Given the description of an element on the screen output the (x, y) to click on. 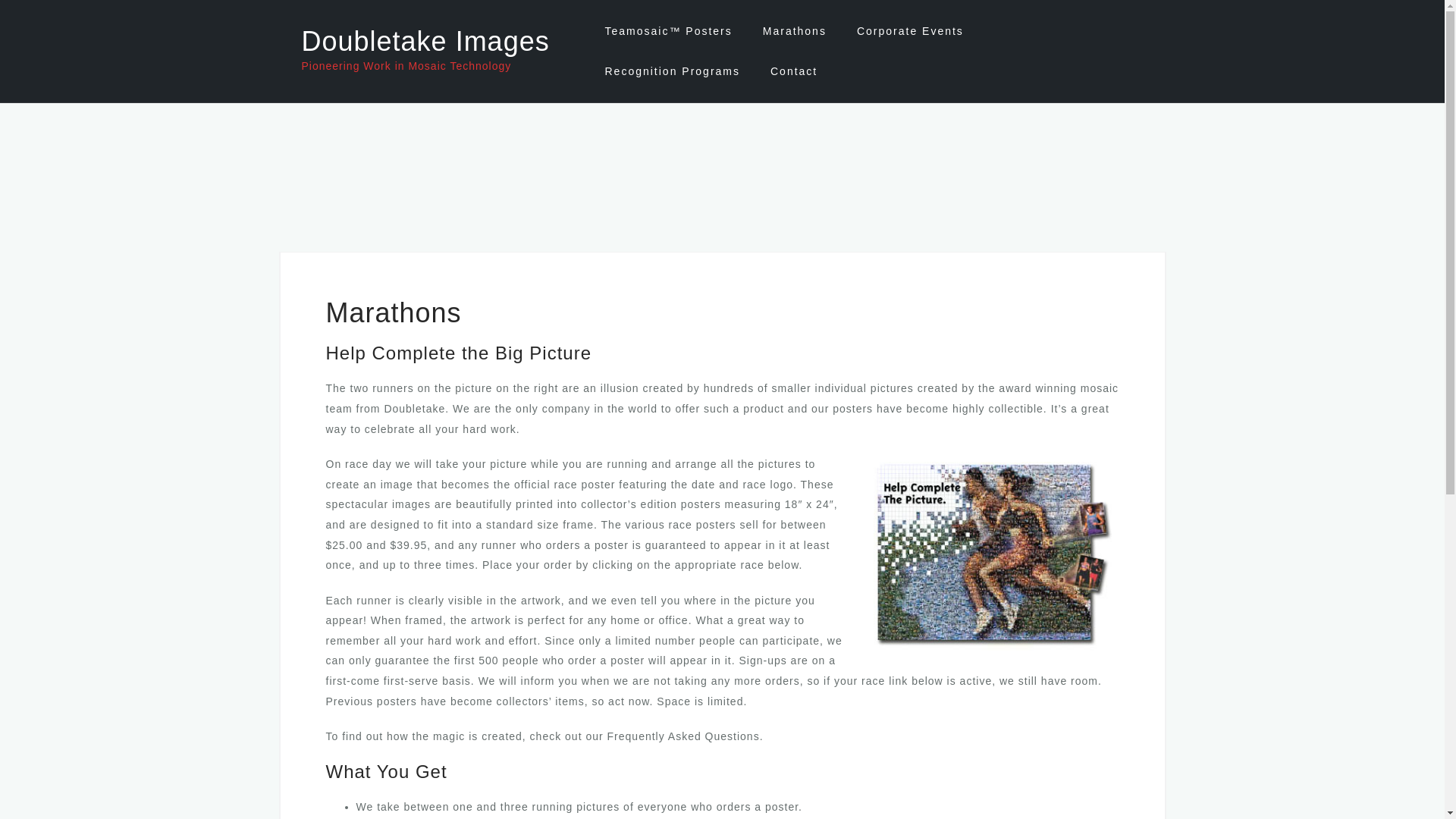
Corporate Events (910, 31)
Doubletake Images (425, 40)
Marathons (794, 31)
Recognition Programs (671, 71)
Contact (793, 71)
